Given the description of an element on the screen output the (x, y) to click on. 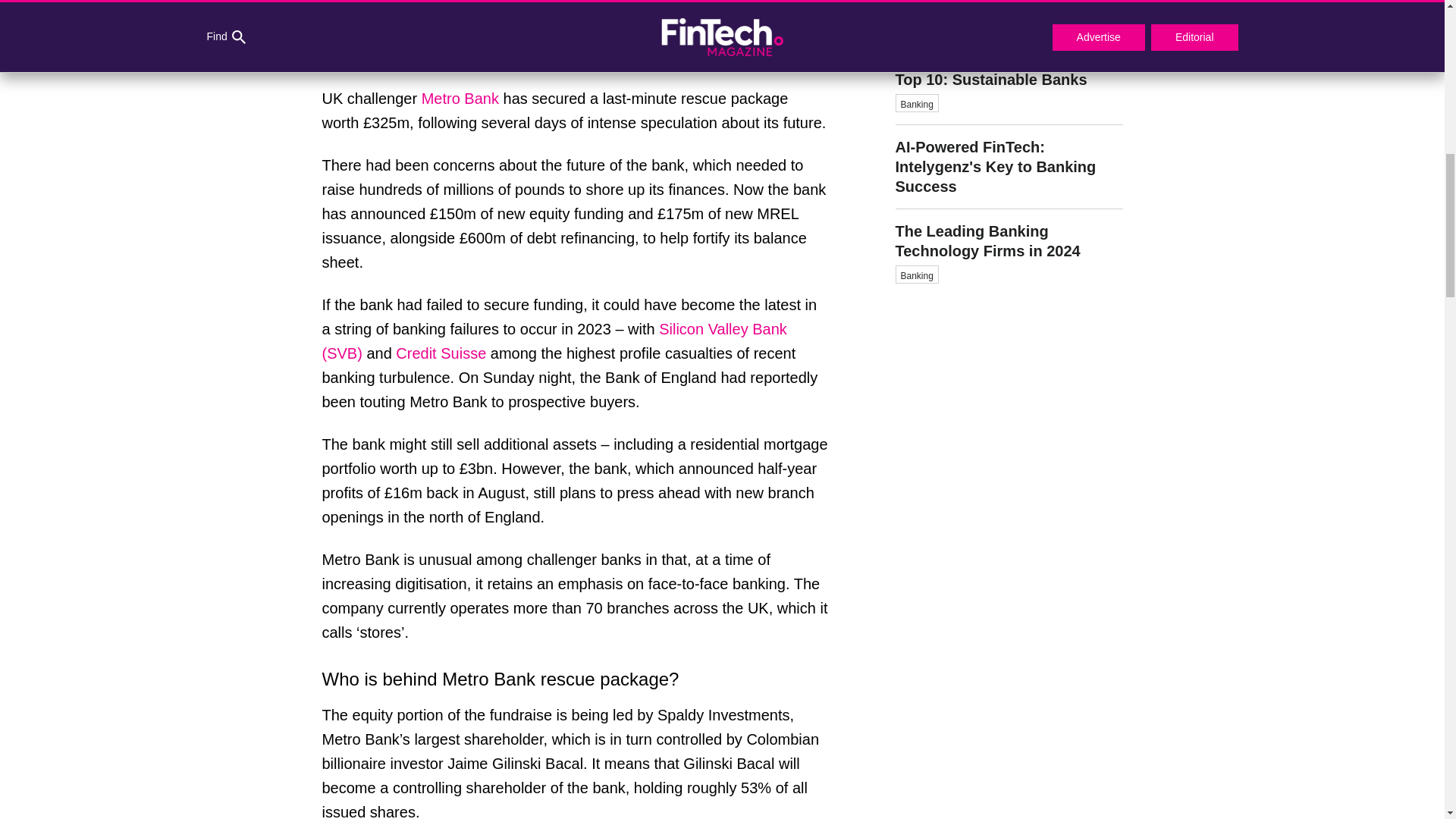
Credit Suisse (441, 352)
AI-Powered FinTech: Intelygenz's Key to Banking Success (1008, 247)
Metro Bank (1008, 167)
